Given the description of an element on the screen output the (x, y) to click on. 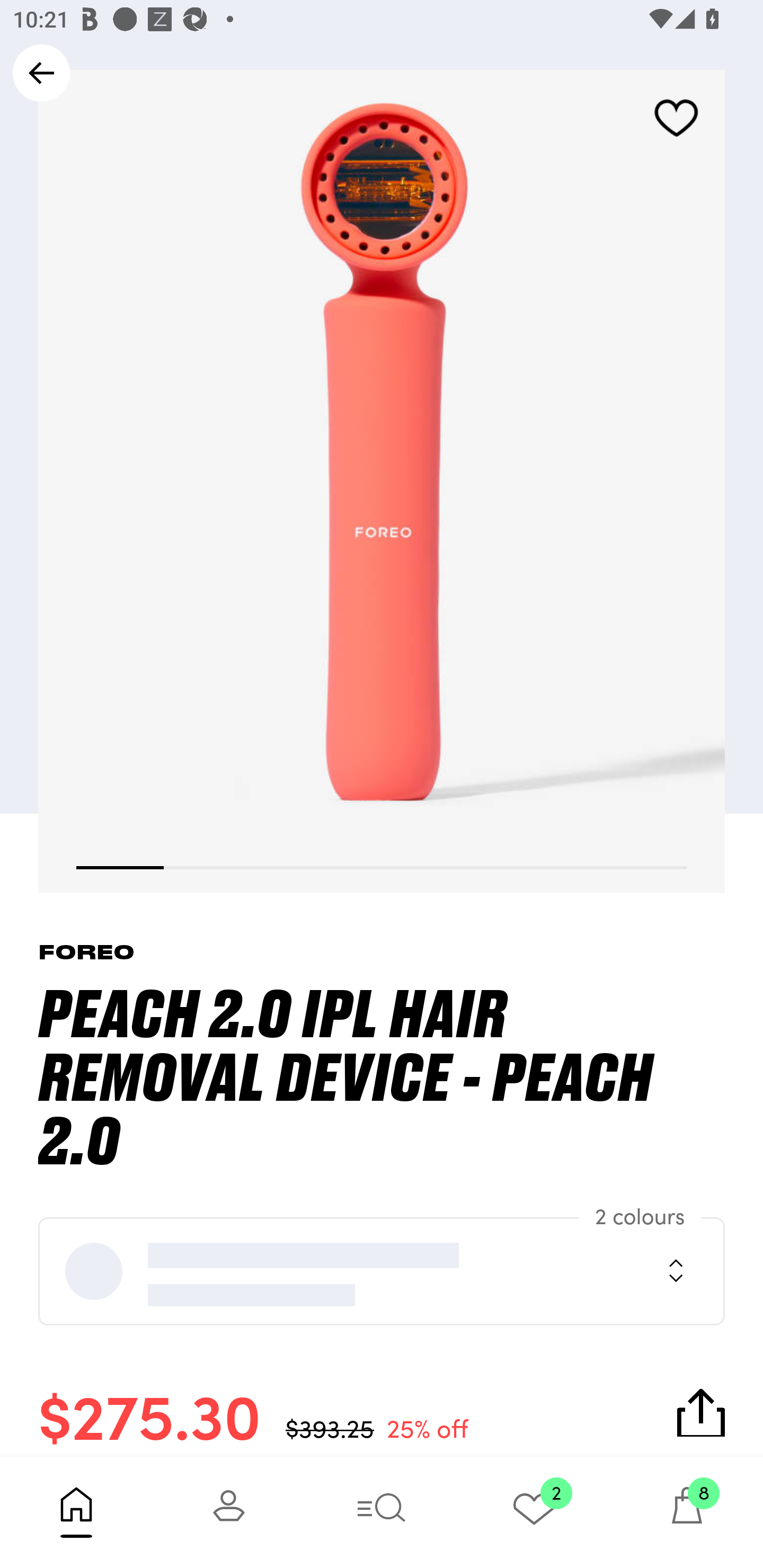
2 (533, 1512)
8 (686, 1512)
